Given the description of an element on the screen output the (x, y) to click on. 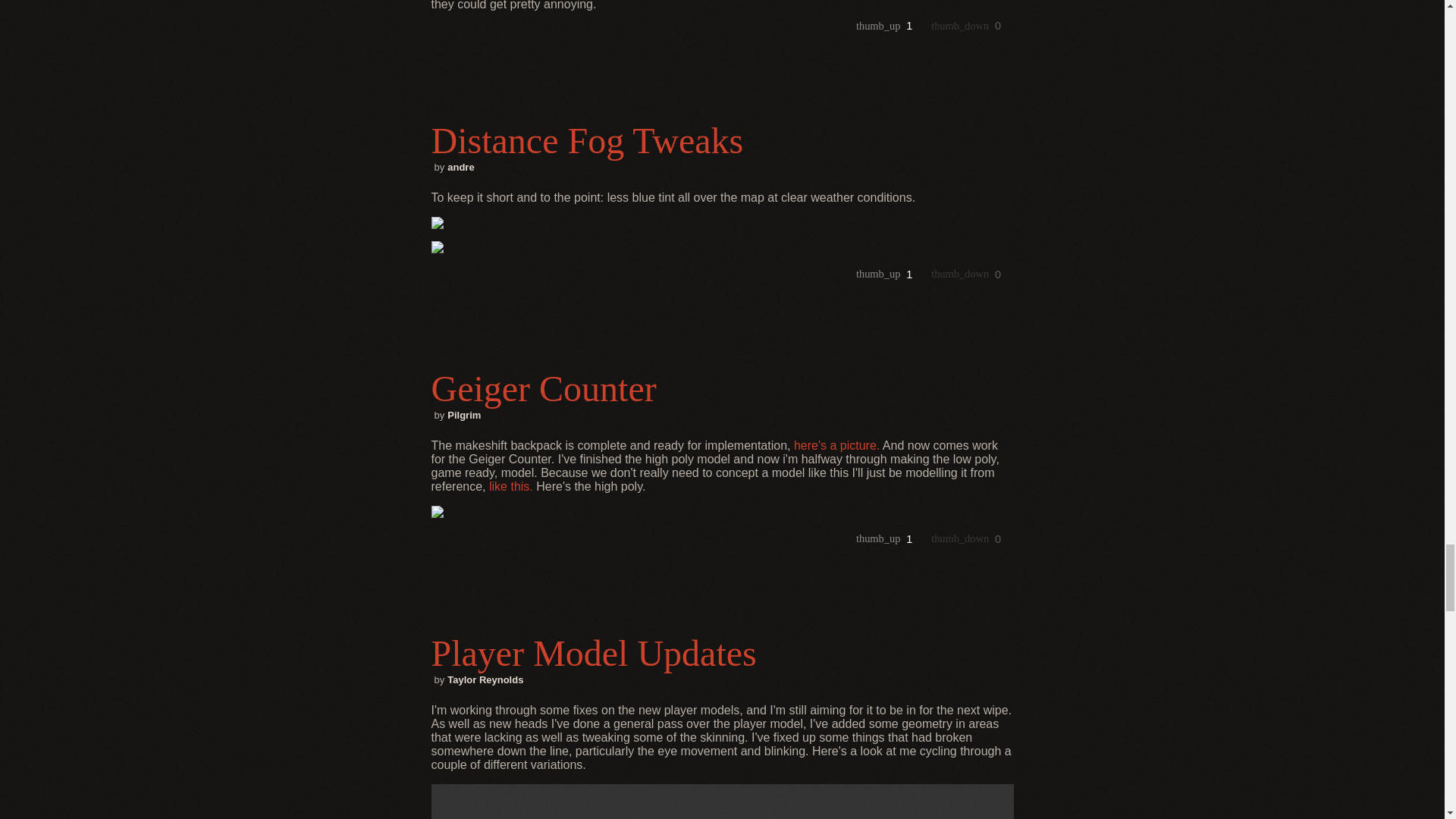
andre (460, 166)
like this. (510, 486)
Player Model Updates (721, 653)
here's a picture. (836, 445)
Pilgrim (463, 414)
Distance Fog Tweaks (721, 140)
Geiger Counter (721, 388)
